Given the description of an element on the screen output the (x, y) to click on. 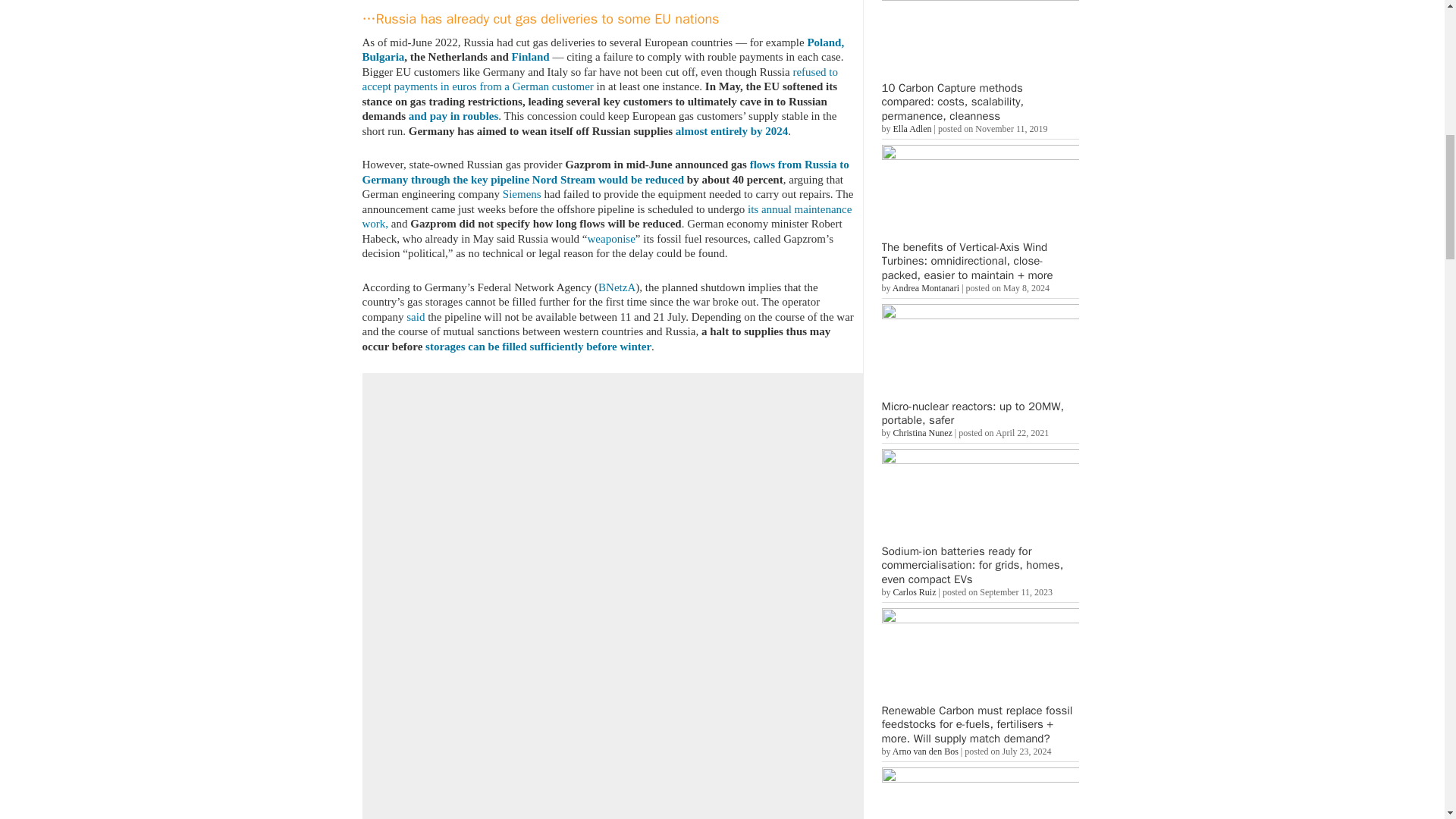
said (415, 316)
almost entirely by 2024 (731, 130)
refused to accept payments in euros from a German customer (600, 78)
its annual maintenance work, (606, 216)
Poland, Bulgaria (603, 49)
storages can be filled sufficiently before winter (537, 345)
weaponise (611, 237)
Siemens (521, 193)
BNetzA (616, 286)
